Given the description of an element on the screen output the (x, y) to click on. 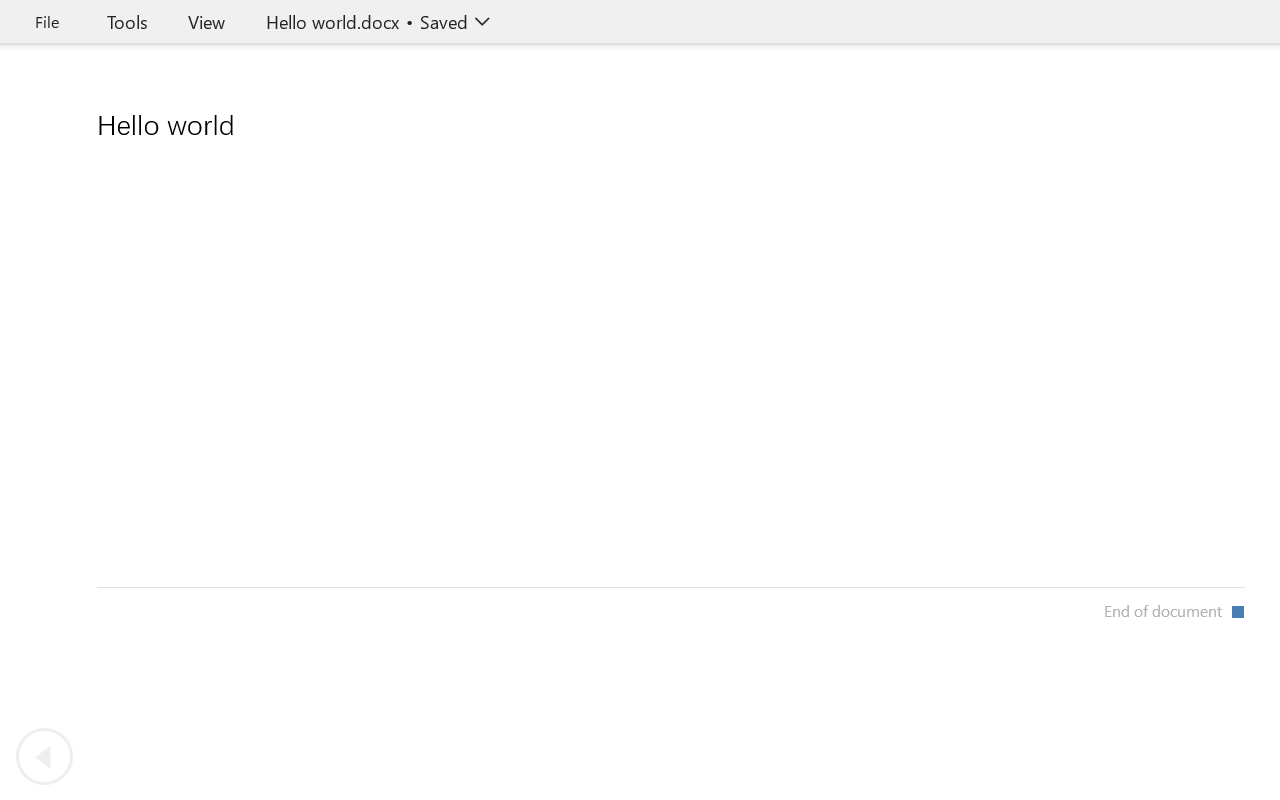
Tools (127, 21)
File Tab (46, 21)
View (205, 21)
